Given the description of an element on the screen output the (x, y) to click on. 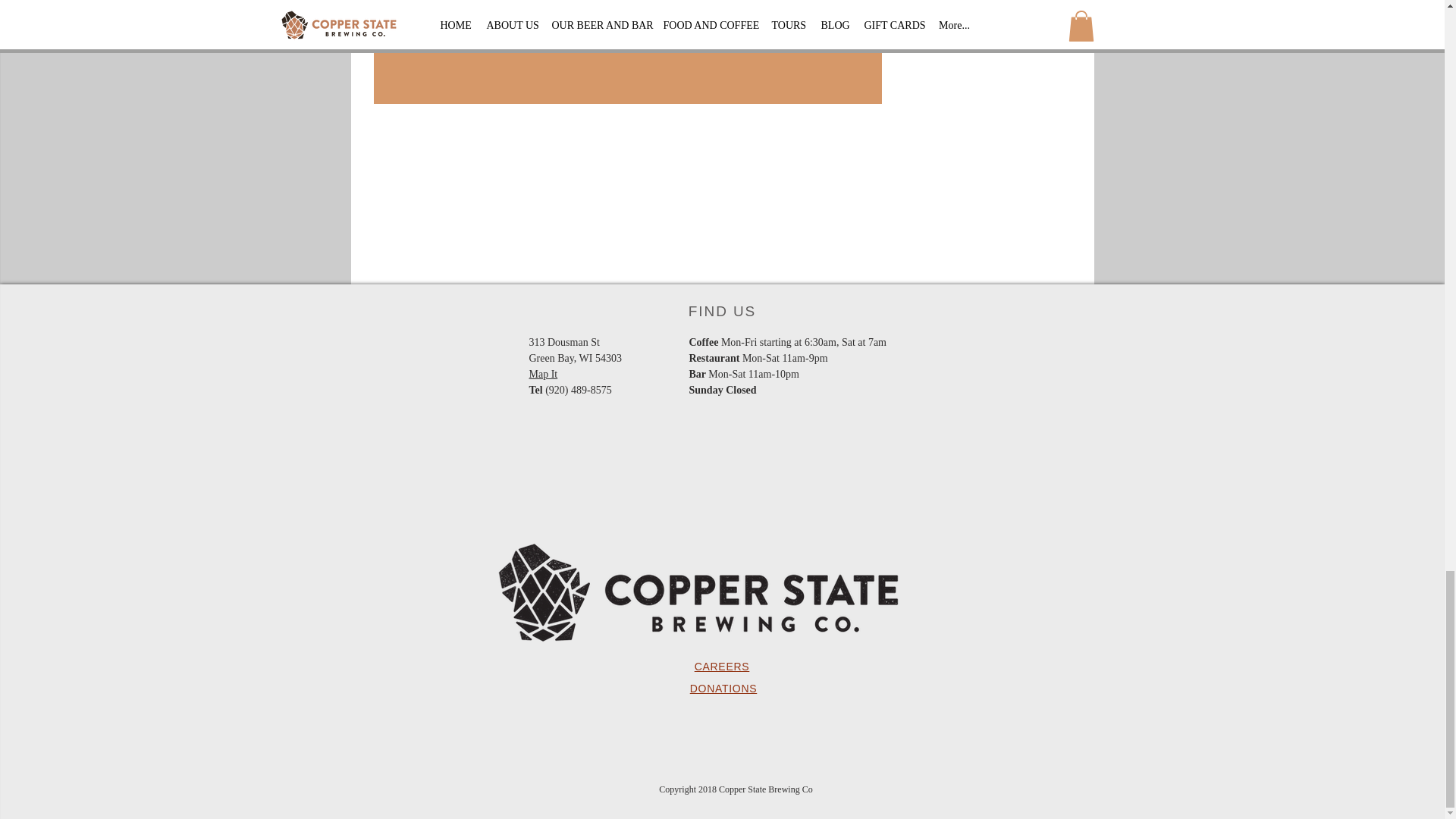
Write a comment... (626, 23)
